Given the description of an element on the screen output the (x, y) to click on. 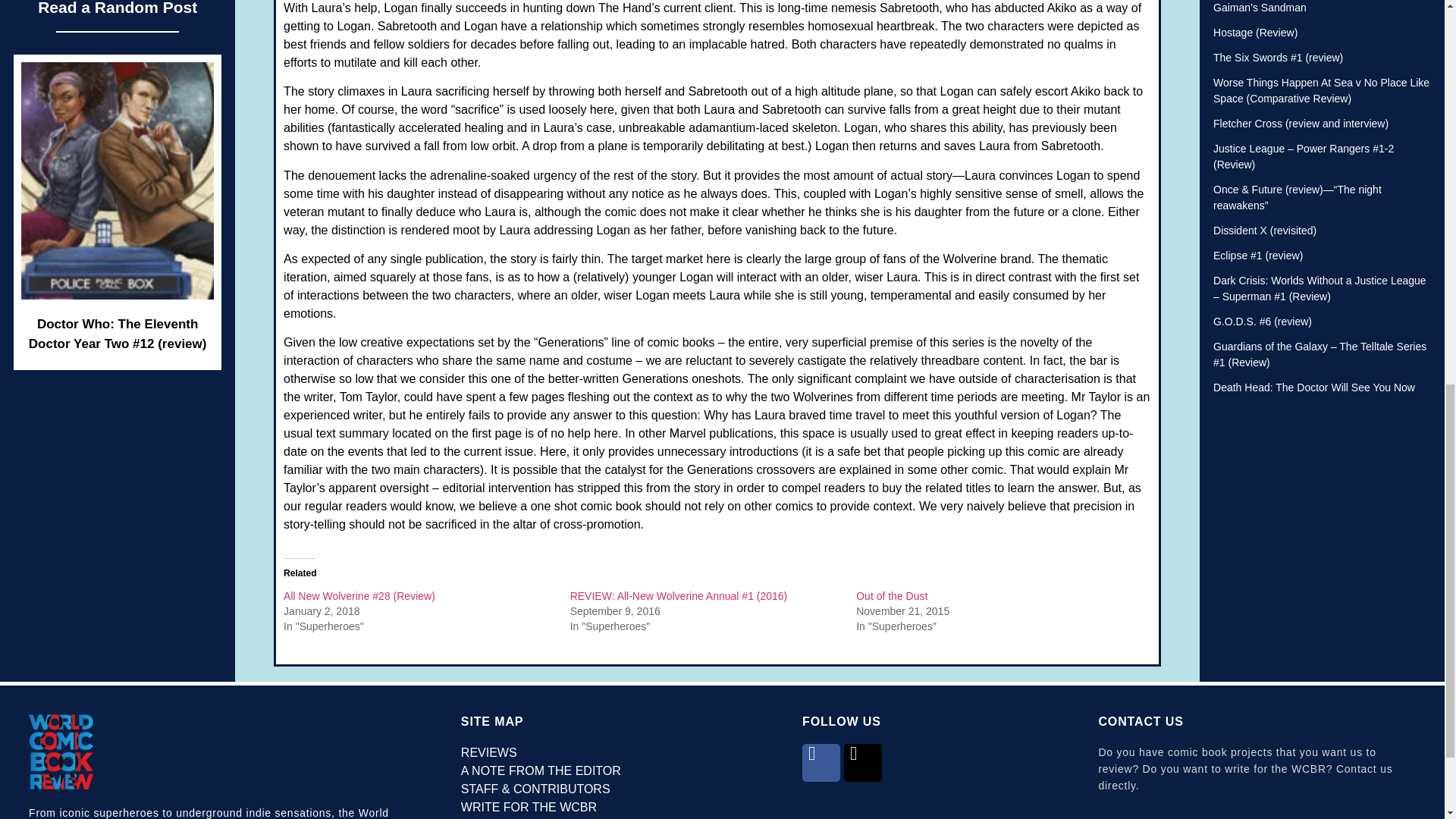
Out of the Dust (891, 595)
